Given the description of an element on the screen output the (x, y) to click on. 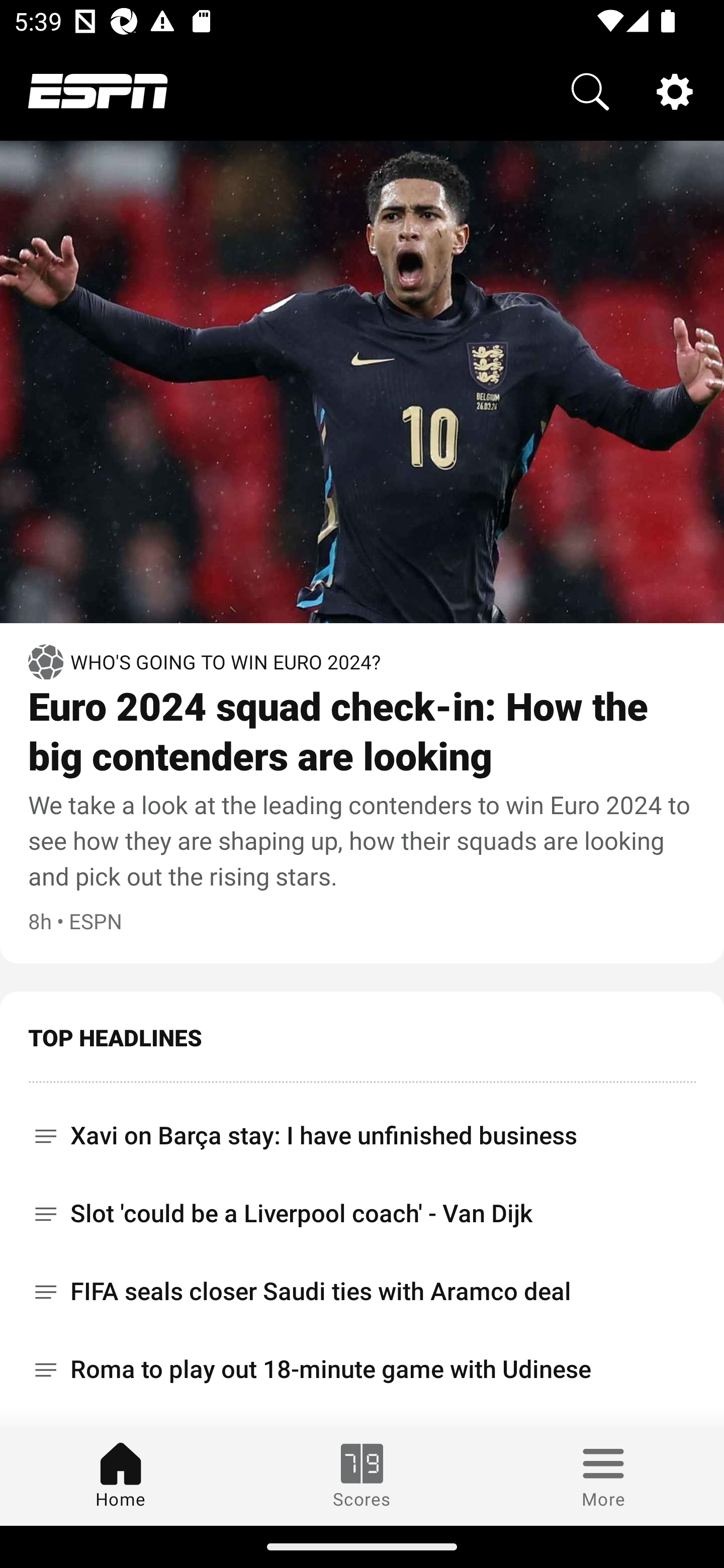
Search (590, 90)
Settings (674, 90)
 Xavi on Barça stay: I have unfinished business (362, 1128)
 Slot 'could be a Liverpool coach' - Van Dijk (362, 1213)
 FIFA seals closer Saudi ties with Aramco deal (362, 1291)
 Roma to play out 18-minute game with Udinese (362, 1369)
Scores (361, 1475)
More (603, 1475)
